Given the description of an element on the screen output the (x, y) to click on. 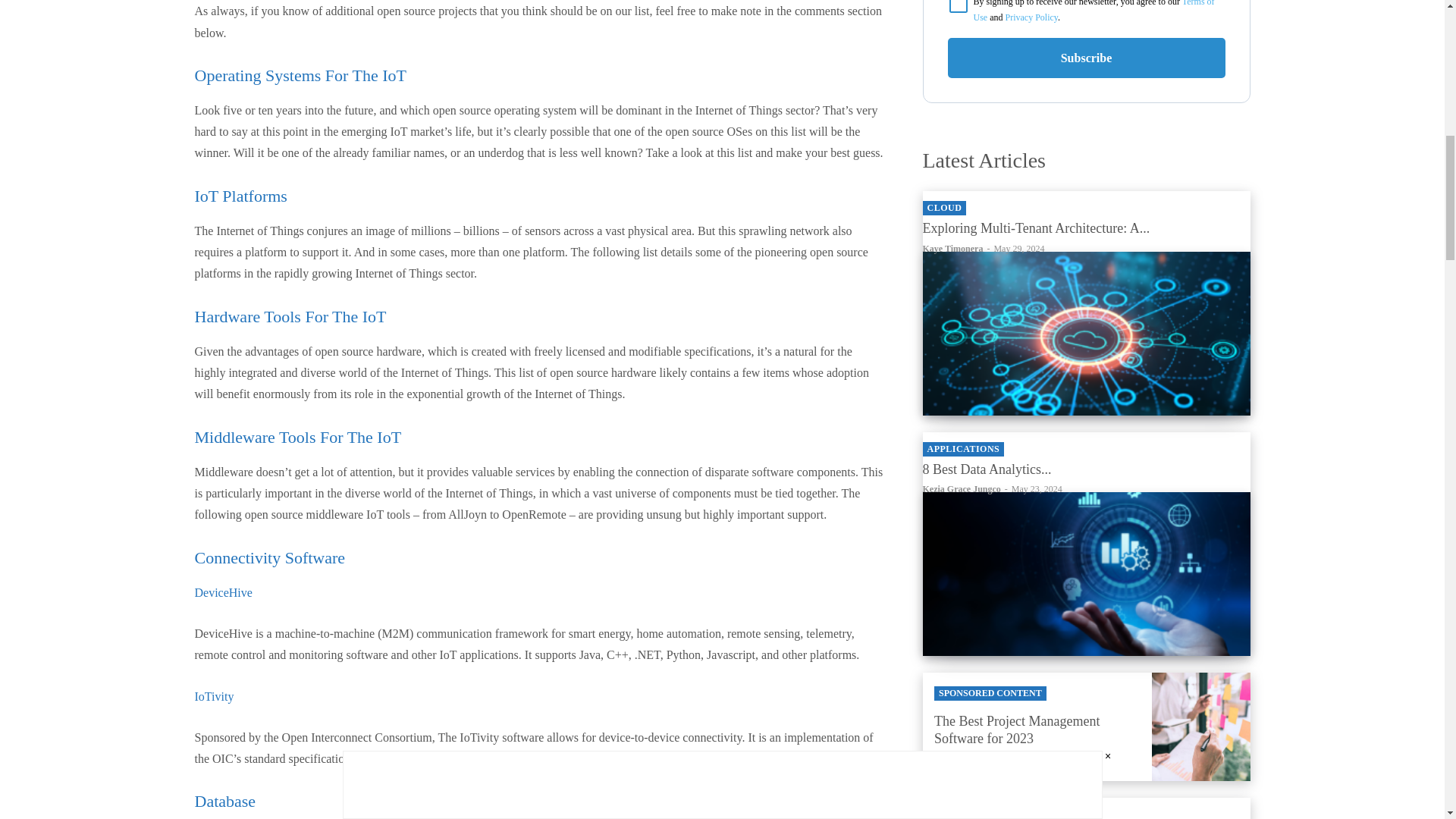
IoT Platforms (239, 195)
on (958, 6)
Operating Systems For The IoT (299, 75)
